Given the description of an element on the screen output the (x, y) to click on. 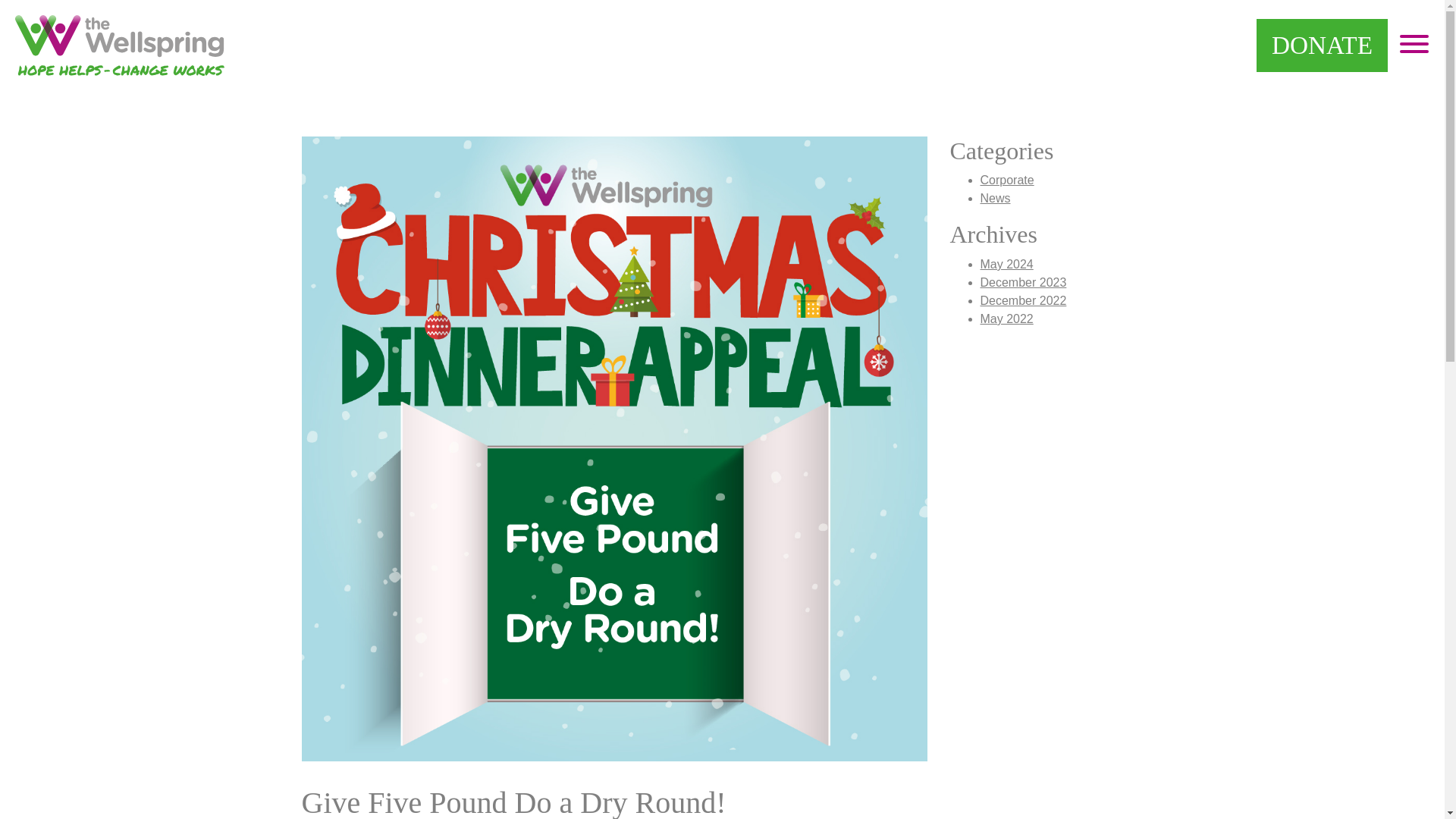
December 2022 (1022, 300)
DONATE (1321, 45)
May 2022 (1005, 318)
May 2024 (1005, 264)
News (994, 197)
December 2023 (1022, 282)
Corporate (1006, 179)
